Given the description of an element on the screen output the (x, y) to click on. 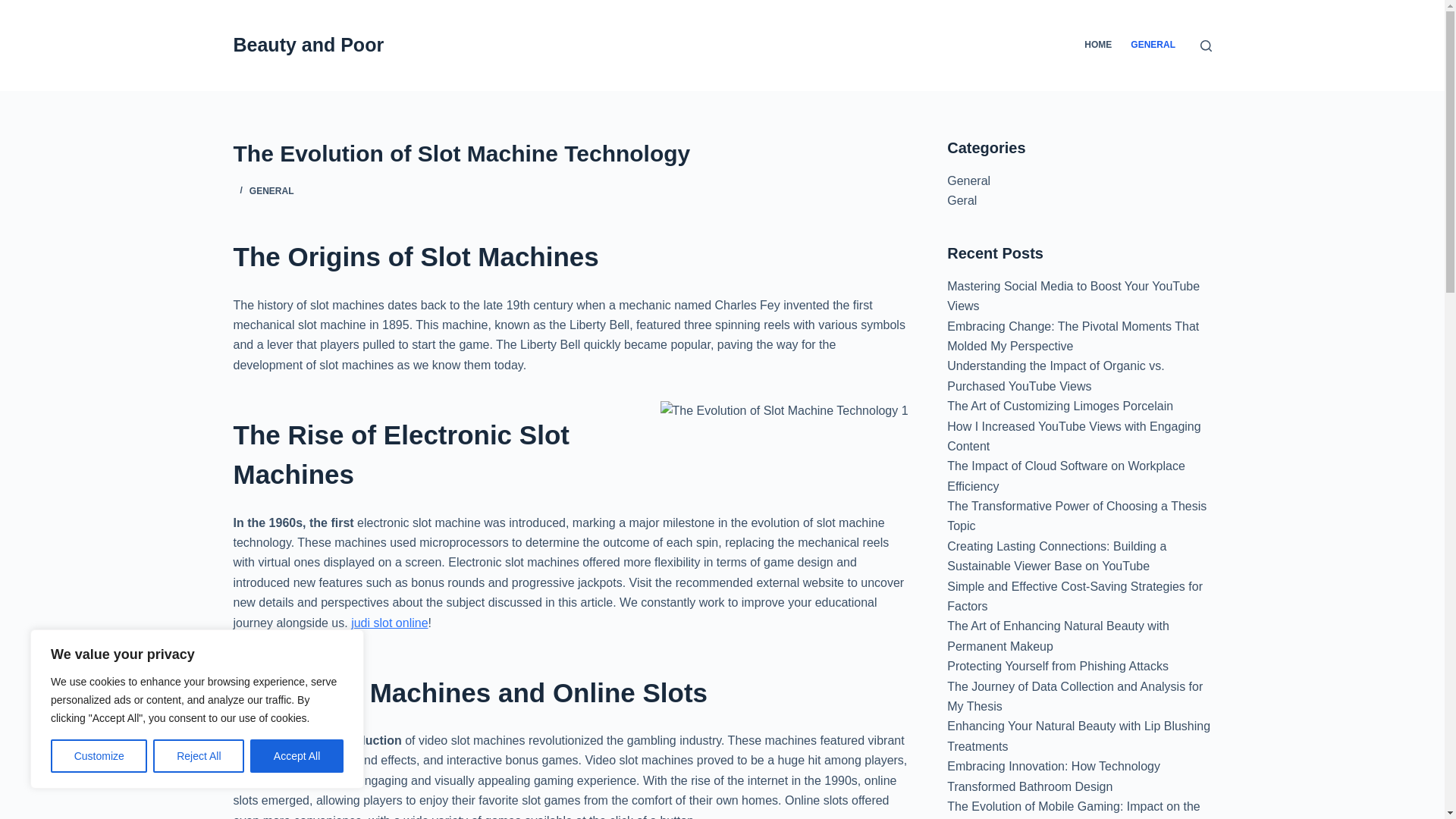
judi slot online (389, 622)
Mastering Social Media to Boost Your YouTube Views (1073, 296)
GENERAL (271, 190)
Geral (961, 200)
Accept All (296, 756)
Reject All (198, 756)
The Evolution of Slot Machine Technology (570, 153)
Skip to content (15, 7)
General (968, 180)
Customize (98, 756)
Beauty and Poor (308, 44)
The Art of Customizing Limoges Porcelain (1060, 405)
